Given the description of an element on the screen output the (x, y) to click on. 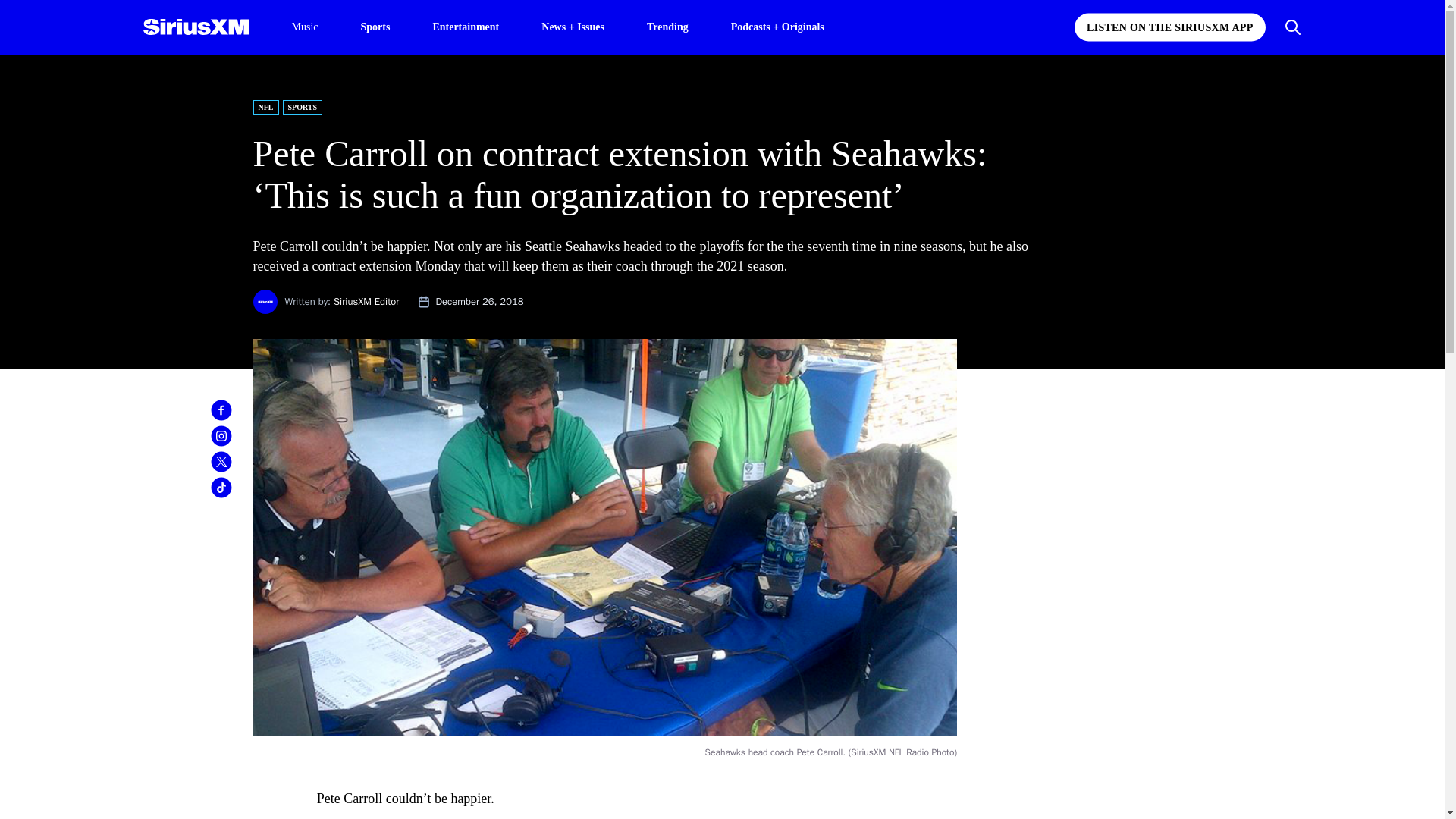
LISTEN ON THE SIRIUSXM APP (1169, 27)
Music (304, 26)
Entertainment (465, 26)
NFL (266, 106)
Sports (375, 26)
SPORTS (301, 106)
Trending (667, 26)
SiriusXM Editor (365, 300)
